Given the description of an element on the screen output the (x, y) to click on. 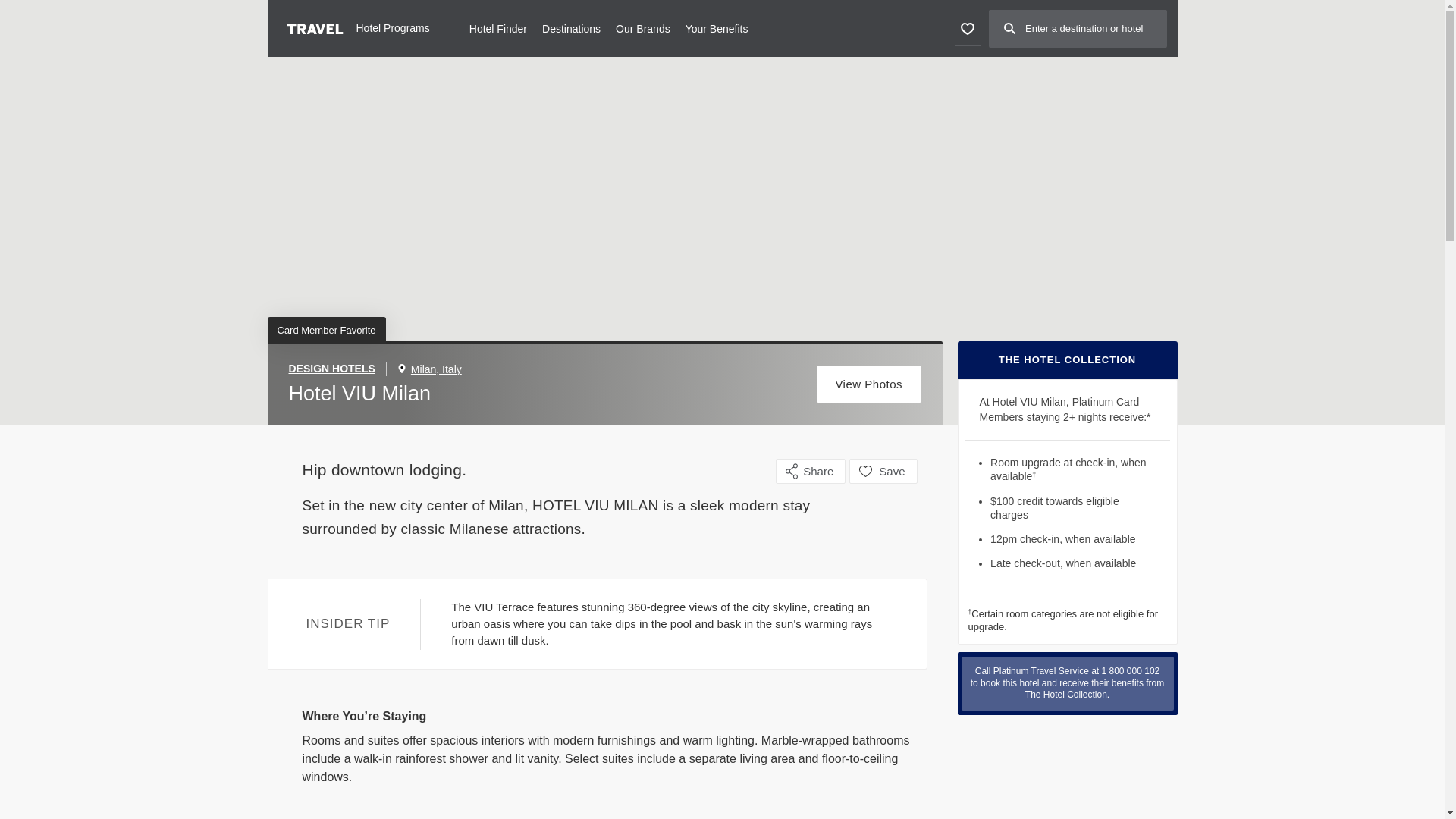
Hotel Finder (497, 27)
Favorites (966, 27)
DESIGN HOTELS (336, 368)
Destinations (570, 27)
Share (810, 471)
Your Benefits (716, 27)
Milan, Italy (435, 369)
View Photos (868, 383)
Our Brands (642, 27)
Hotel Programs (357, 27)
Save (882, 471)
